Given the description of an element on the screen output the (x, y) to click on. 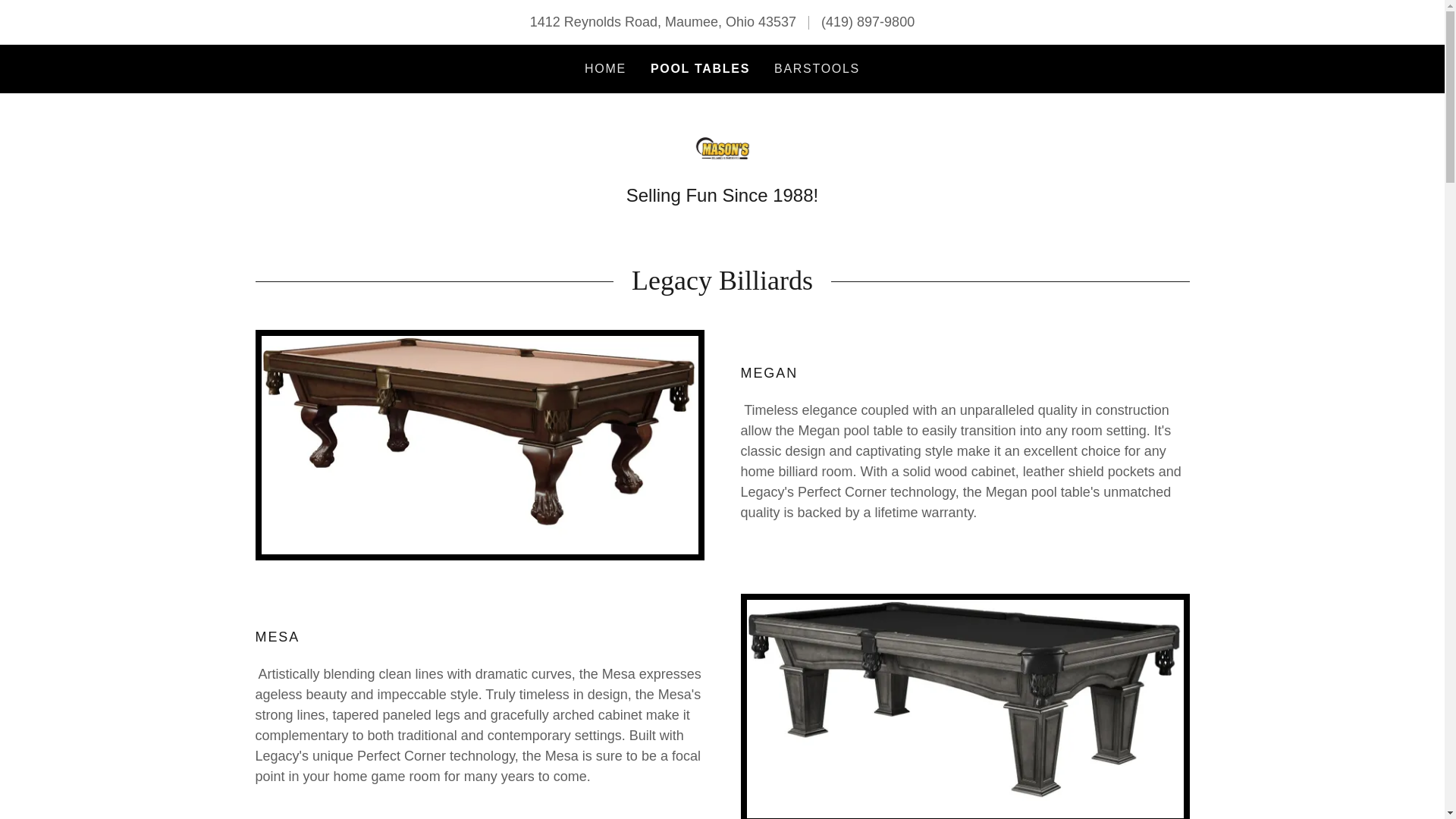
Mason's Billiards and Barstools (721, 146)
BARSTOOLS (817, 68)
HOME (604, 68)
POOL TABLES (699, 68)
